Given the description of an element on the screen output the (x, y) to click on. 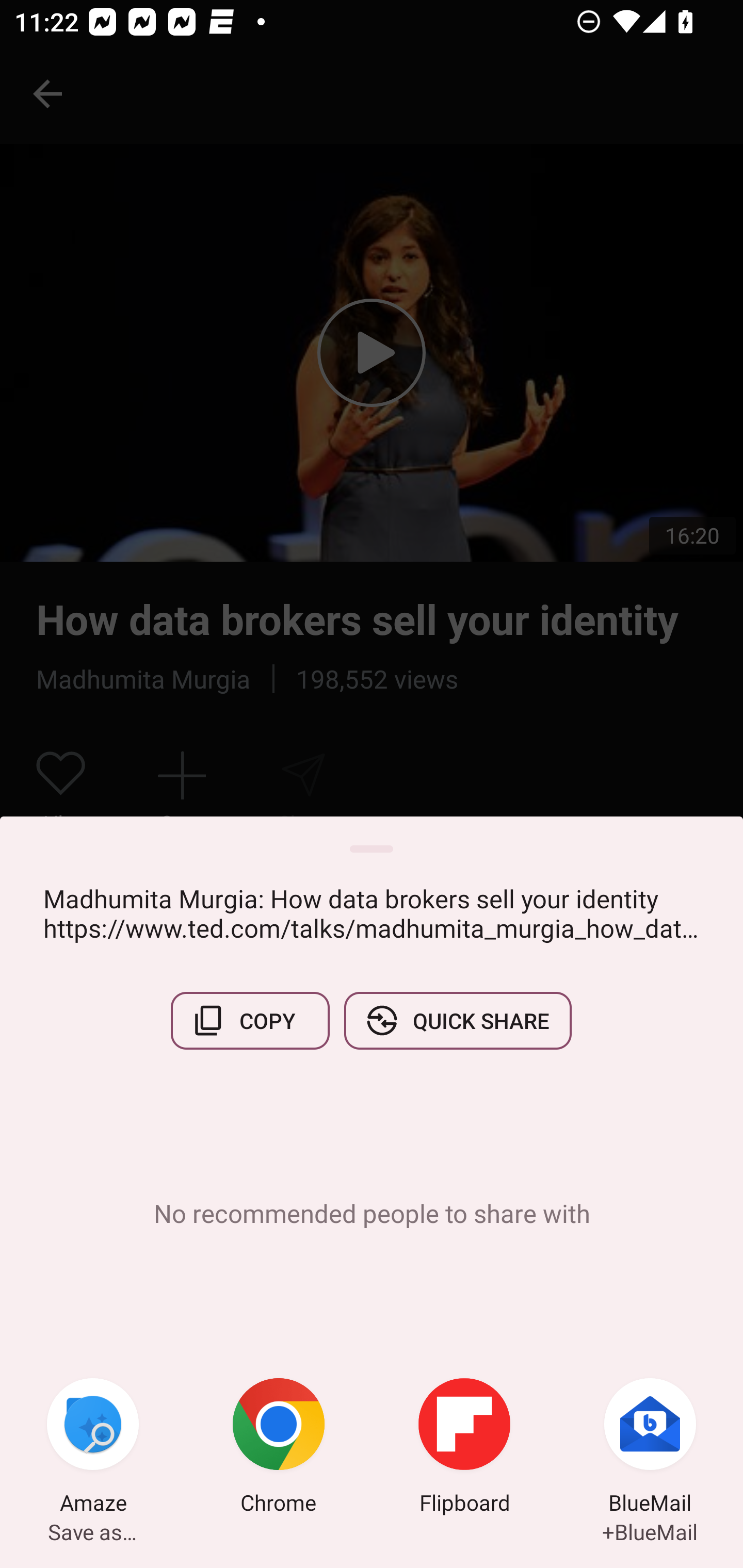
COPY (249, 1020)
QUICK SHARE (457, 1020)
Amaze Save as… (92, 1448)
Chrome (278, 1448)
Flipboard (464, 1448)
BlueMail +BlueMail (650, 1448)
